Given the description of an element on the screen output the (x, y) to click on. 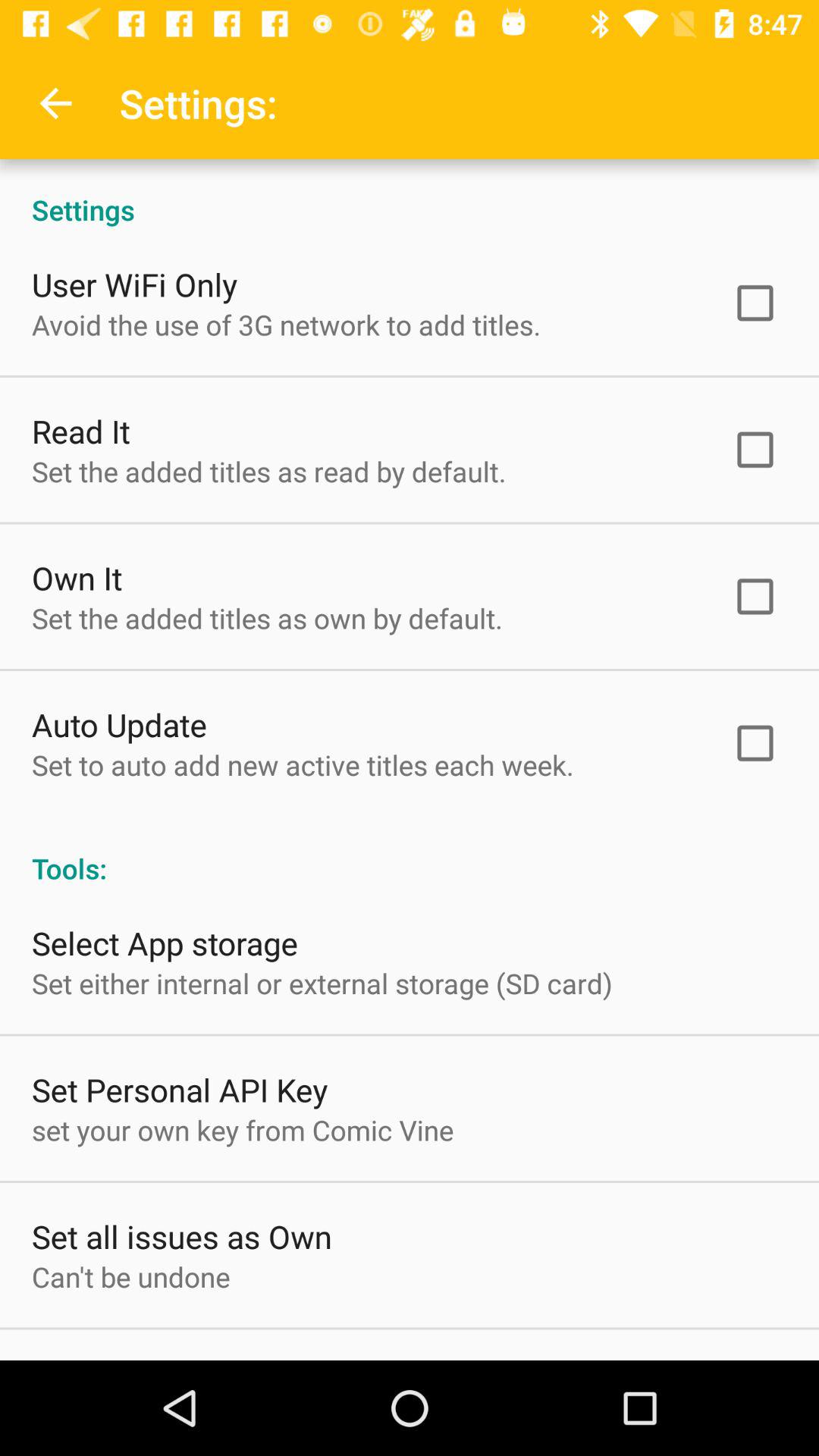
scroll until auto update icon (119, 724)
